Given the description of an element on the screen output the (x, y) to click on. 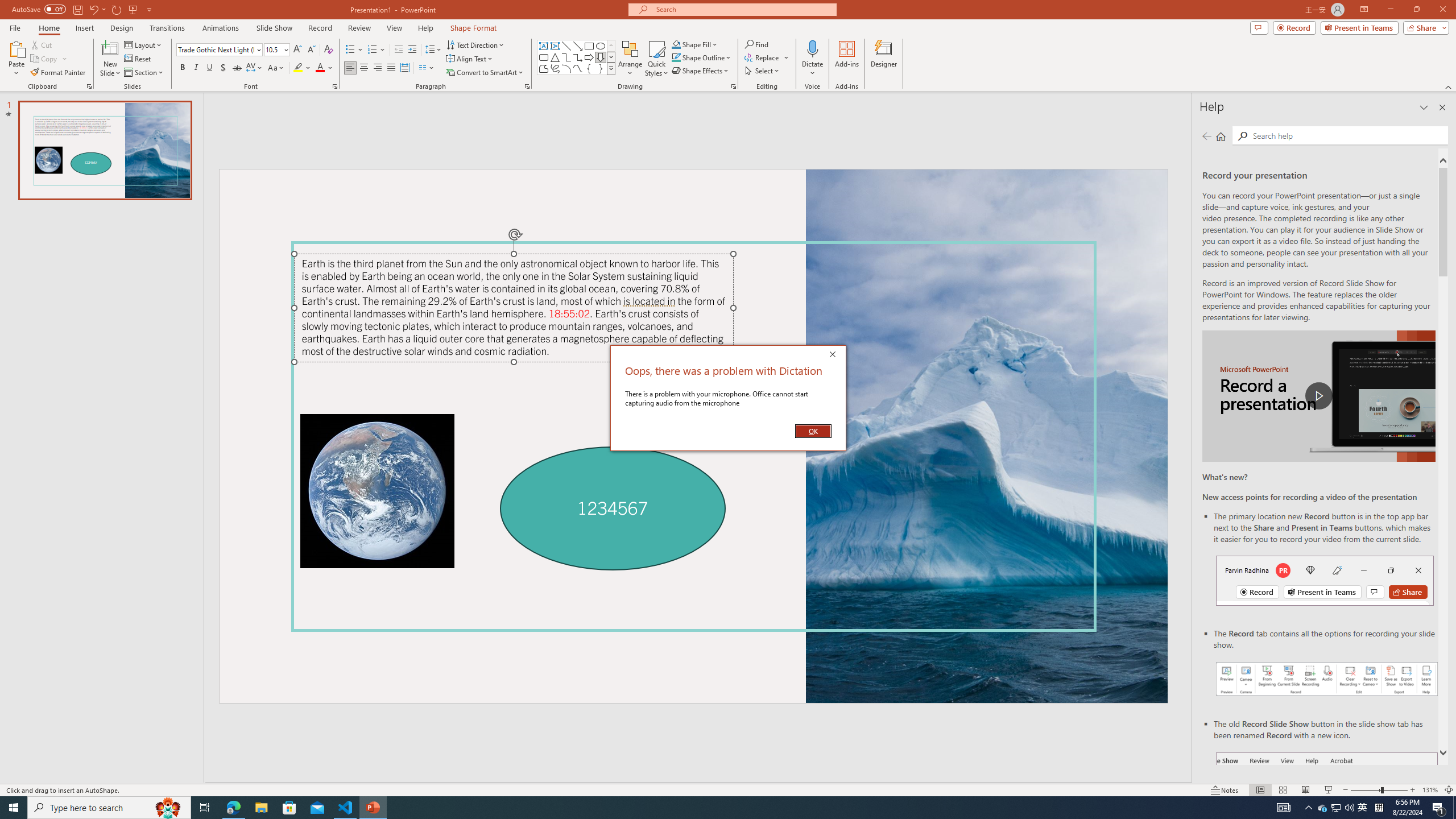
Tray Input Indicator - Chinese (Simplified, China) (1378, 807)
Bold (182, 67)
OK (812, 431)
Design (122, 28)
Text Box (543, 45)
Connector: Elbow Arrow (577, 57)
Oval (600, 45)
New Slide (110, 58)
Shape Effects (700, 69)
Dictate (812, 58)
Search (1241, 136)
Close (835, 355)
Customize Quick Access Toolbar (149, 9)
Minimize (1390, 9)
Close pane (1441, 107)
